Given the description of an element on the screen output the (x, y) to click on. 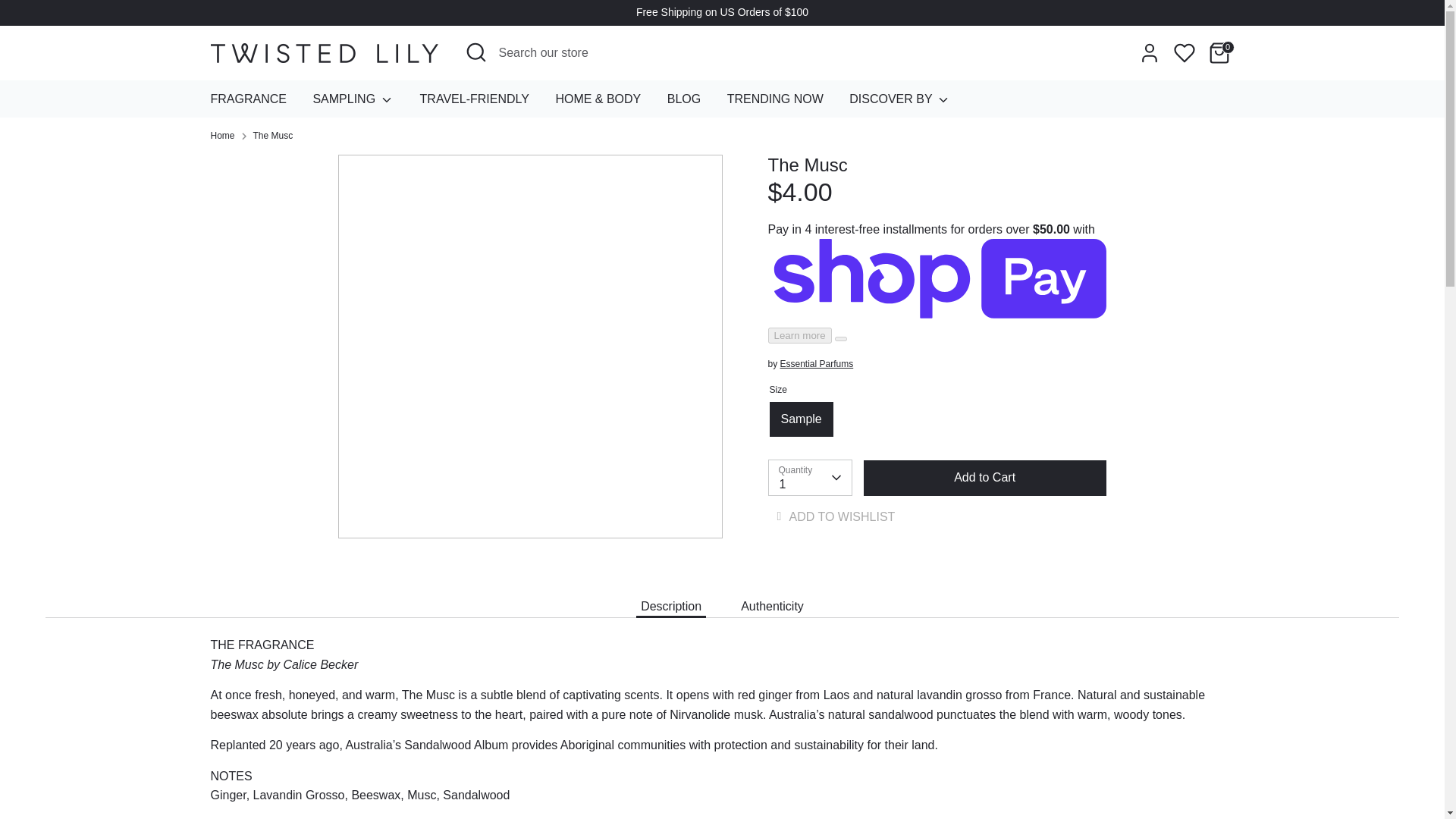
FRAGRANCE (247, 103)
SAMPLING (352, 103)
0 (1219, 52)
